Given the description of an element on the screen output the (x, y) to click on. 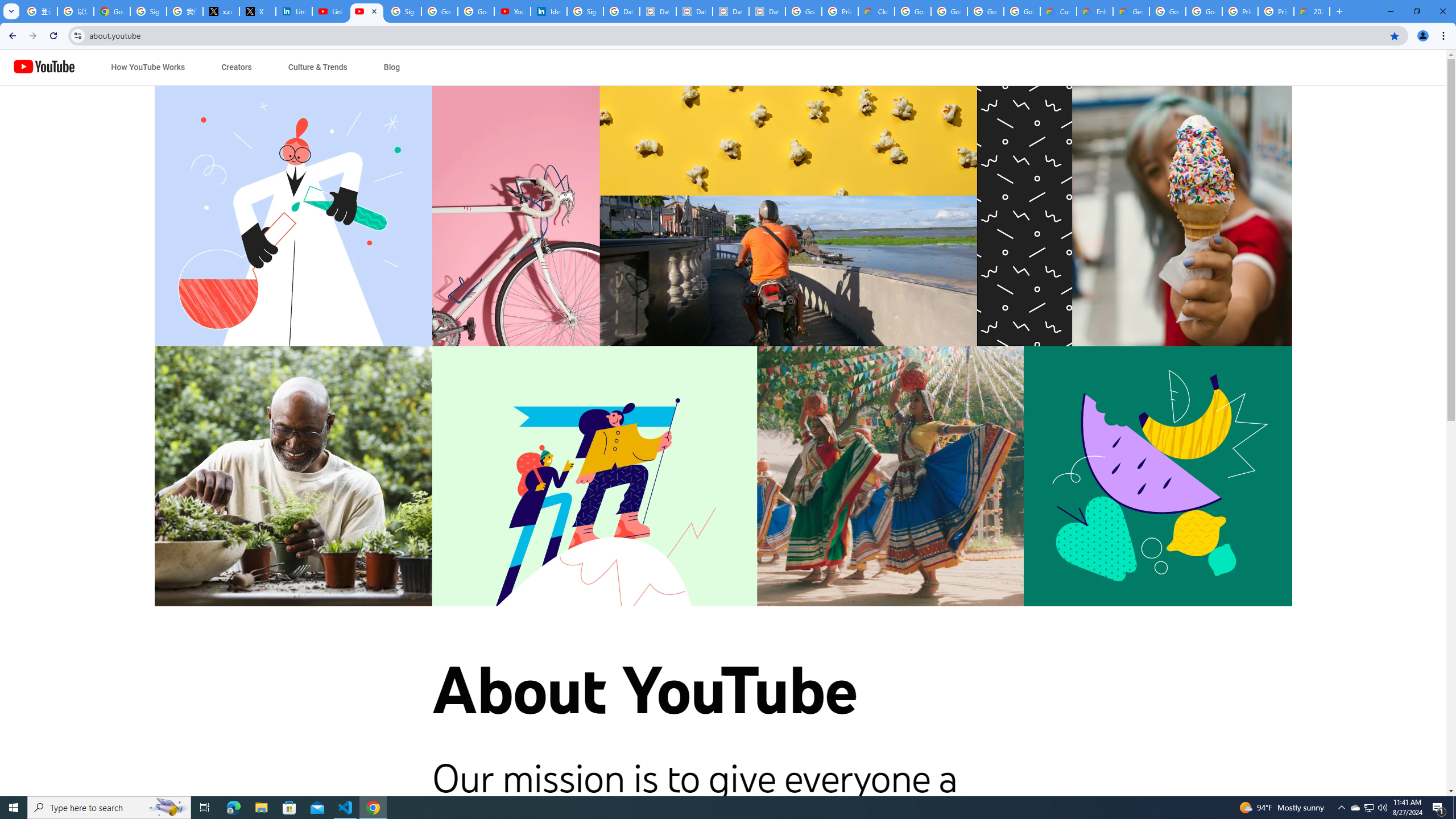
LinkedIn Privacy Policy (293, 11)
Cloud Data Processing Addendum | Google Cloud (876, 11)
